Given the description of an element on the screen output the (x, y) to click on. 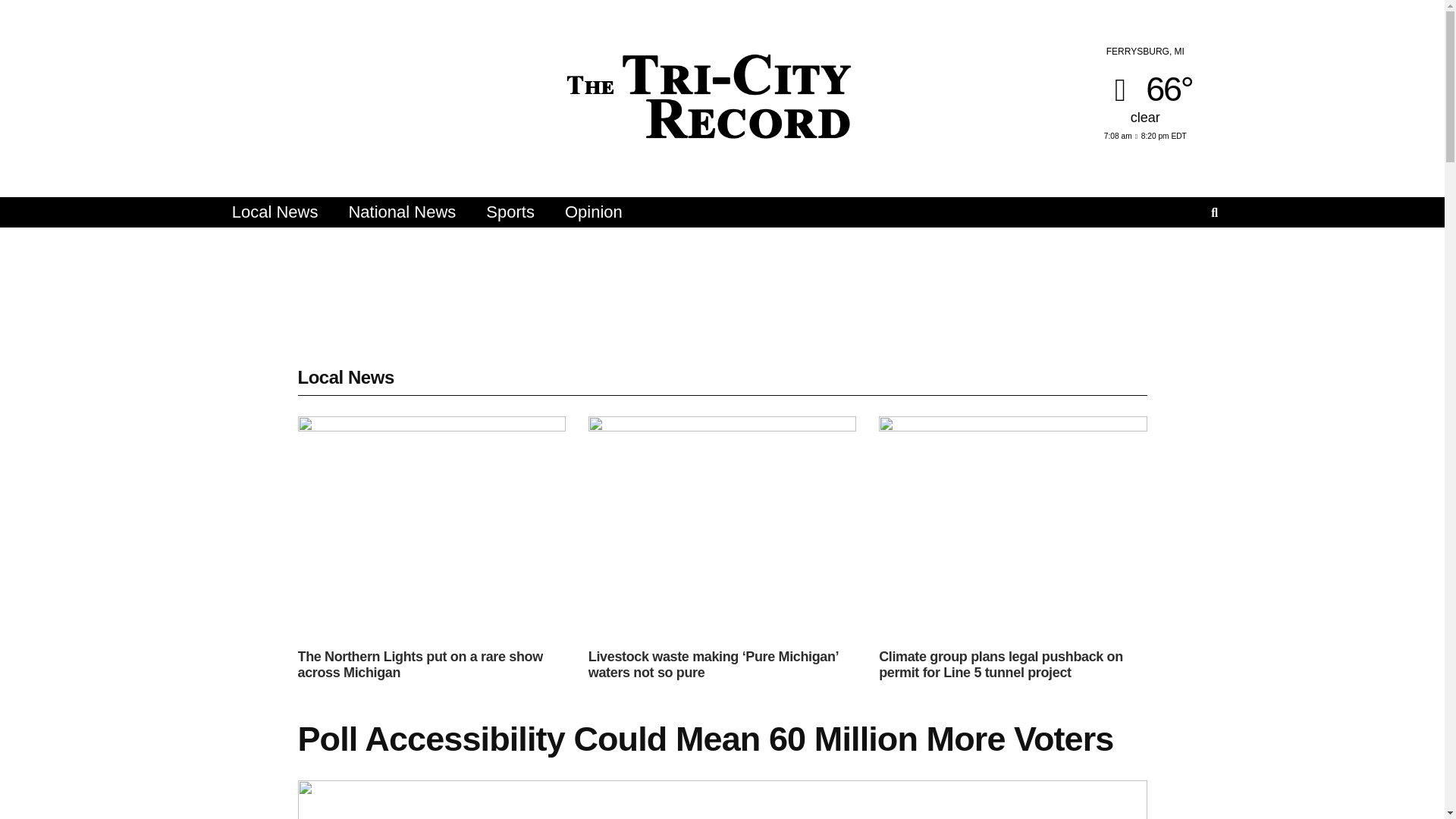
Local News (274, 212)
Sports (510, 212)
The Northern Lights put on a rare show across Michigan (419, 664)
Opinion (593, 212)
National News (401, 212)
